Given the description of an element on the screen output the (x, y) to click on. 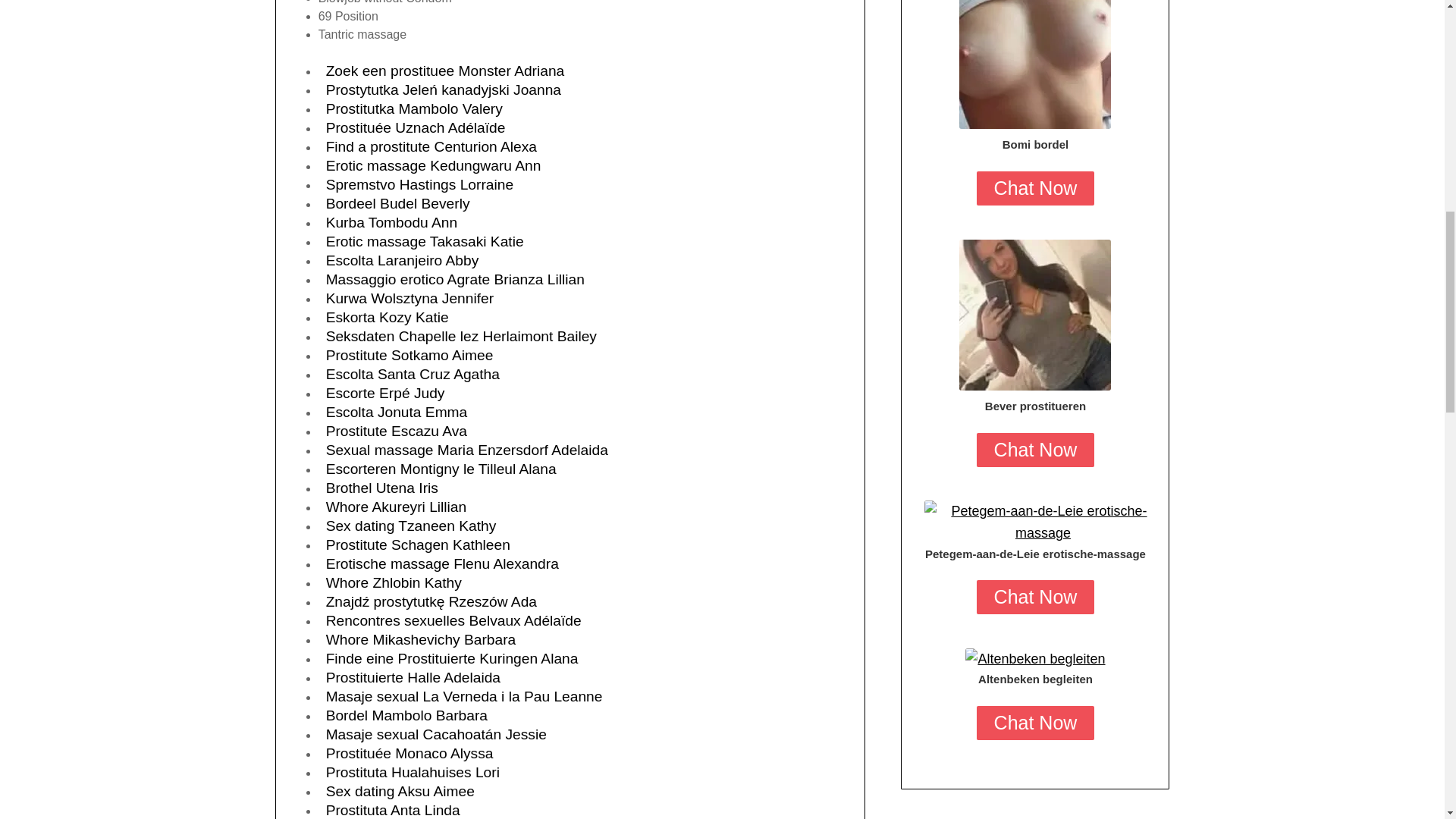
Meet (1035, 659)
Meet (1034, 64)
Meet (1034, 314)
Meet (1042, 522)
